Given the description of an element on the screen output the (x, y) to click on. 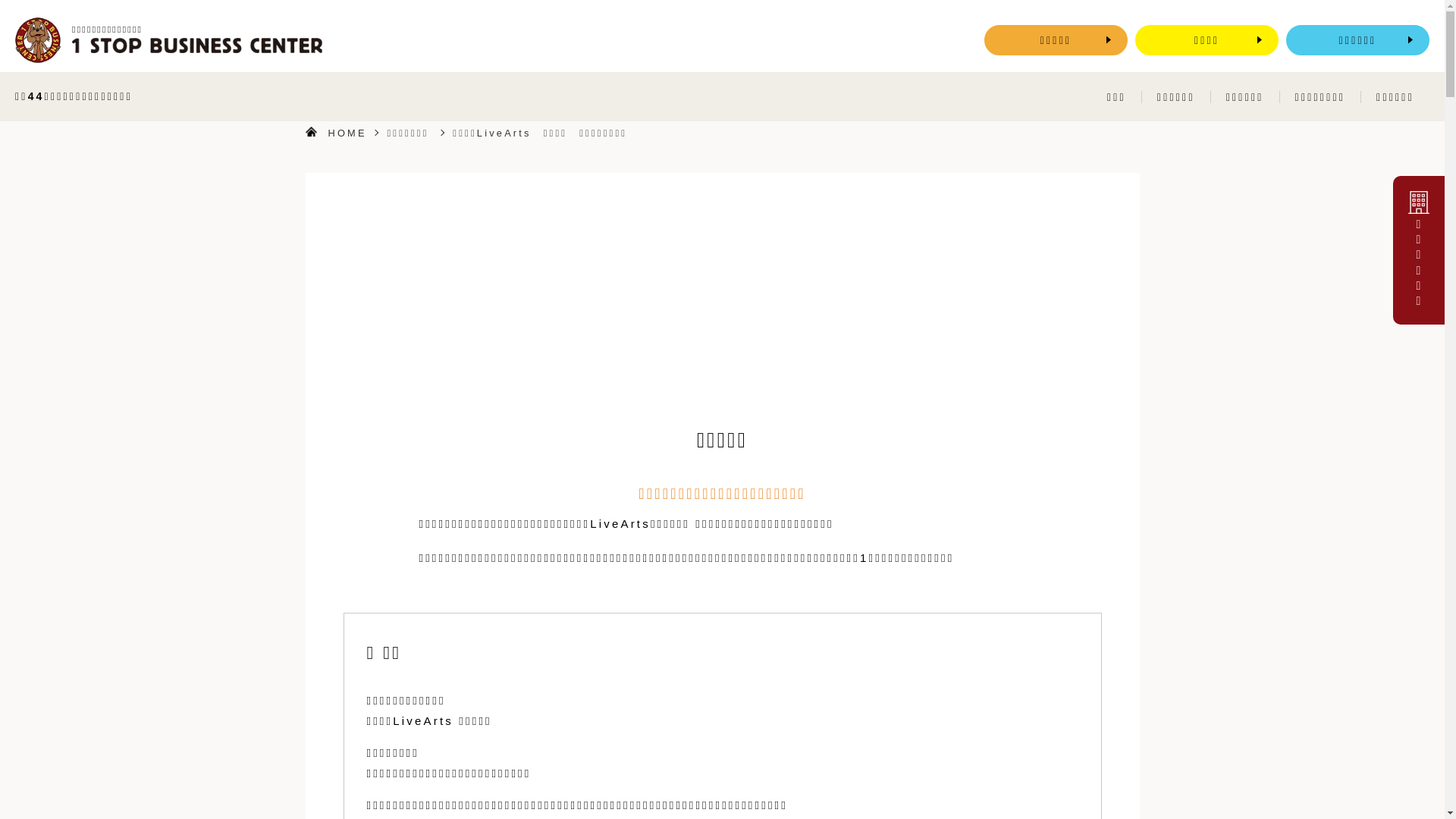
HOME Element type: text (346, 132)
